Given the description of an element on the screen output the (x, y) to click on. 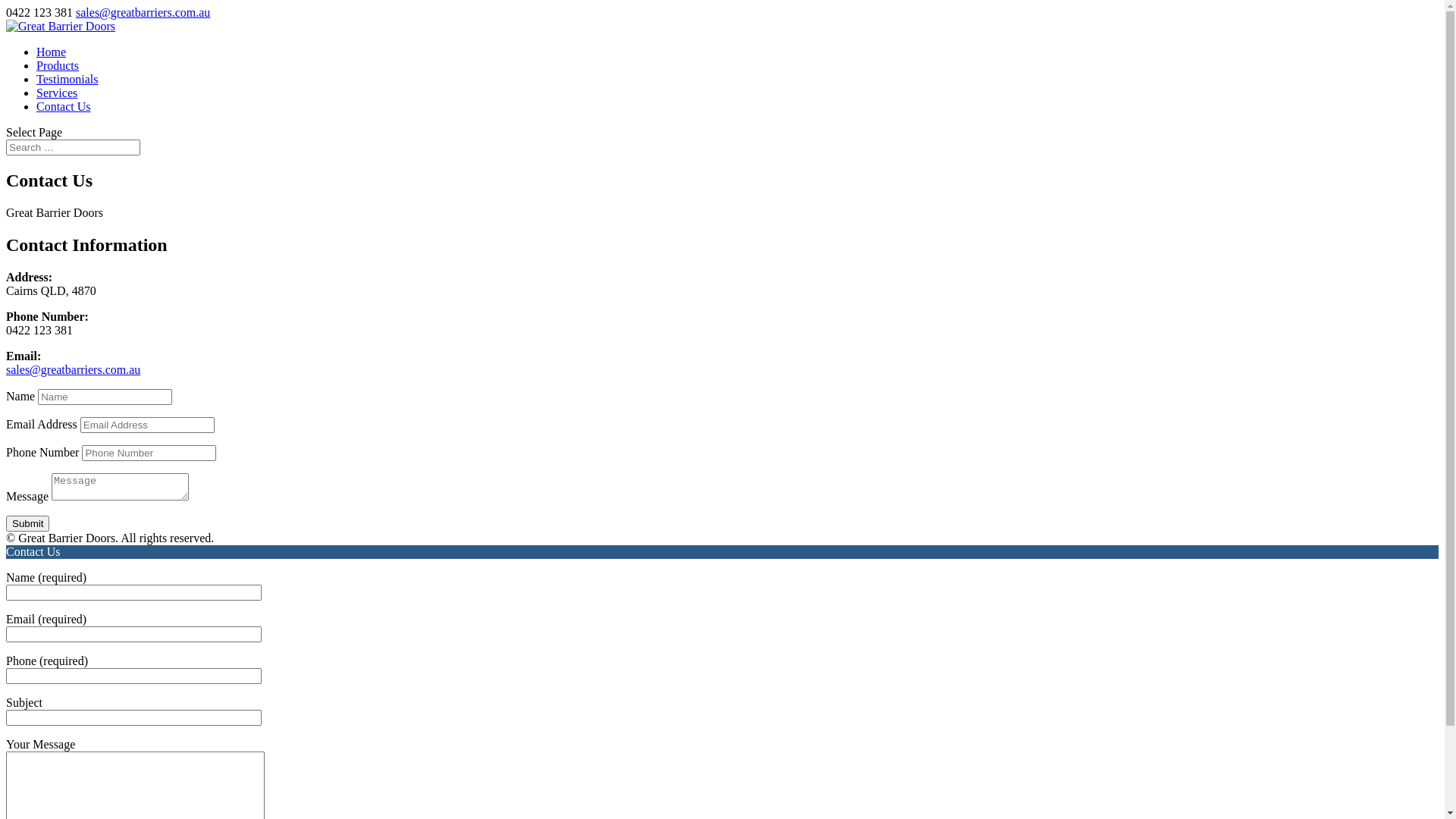
Home Element type: text (50, 51)
sales@greatbarriers.com.au Element type: text (73, 369)
Services Element type: text (56, 92)
Contact Us Element type: text (63, 106)
Products Element type: text (57, 65)
Submit Element type: text (27, 523)
sales@greatbarriers.com.au Element type: text (142, 12)
Testimonials Element type: text (67, 78)
Search for: Element type: hover (73, 147)
